Given the description of an element on the screen output the (x, y) to click on. 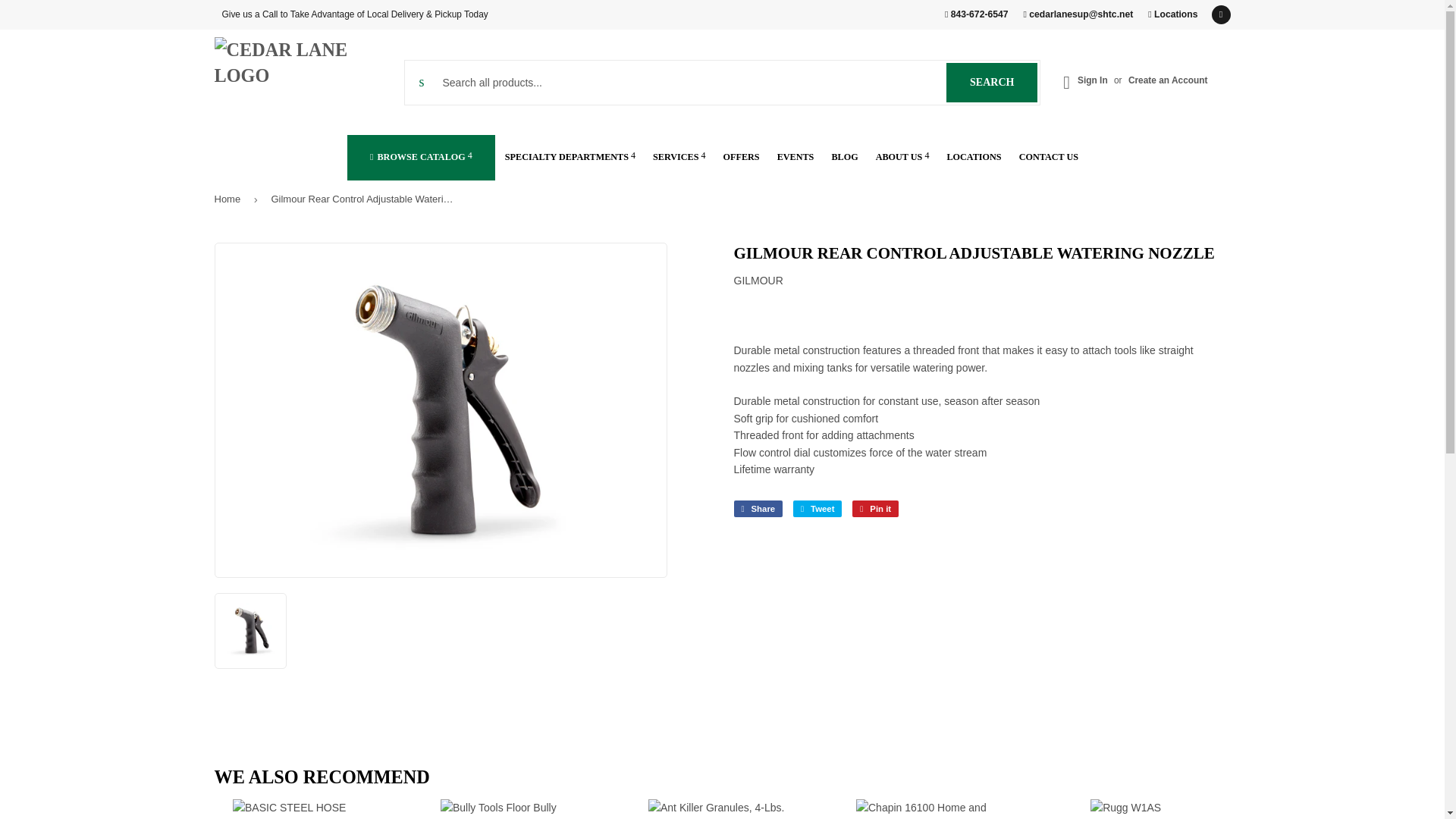
Sign In (1092, 80)
 843-672-6547 (976, 14)
Share on Facebook (758, 508)
Tweet on Twitter (817, 508)
Facebook (1220, 14)
Create an Account (1168, 80)
Pin on Pinterest (874, 508)
Back to the frontpage (230, 199)
Cedar Lane Supply, Inc on Facebook (1220, 14)
 Locations (991, 82)
Open Product Zoom (1172, 14)
